Given the description of an element on the screen output the (x, y) to click on. 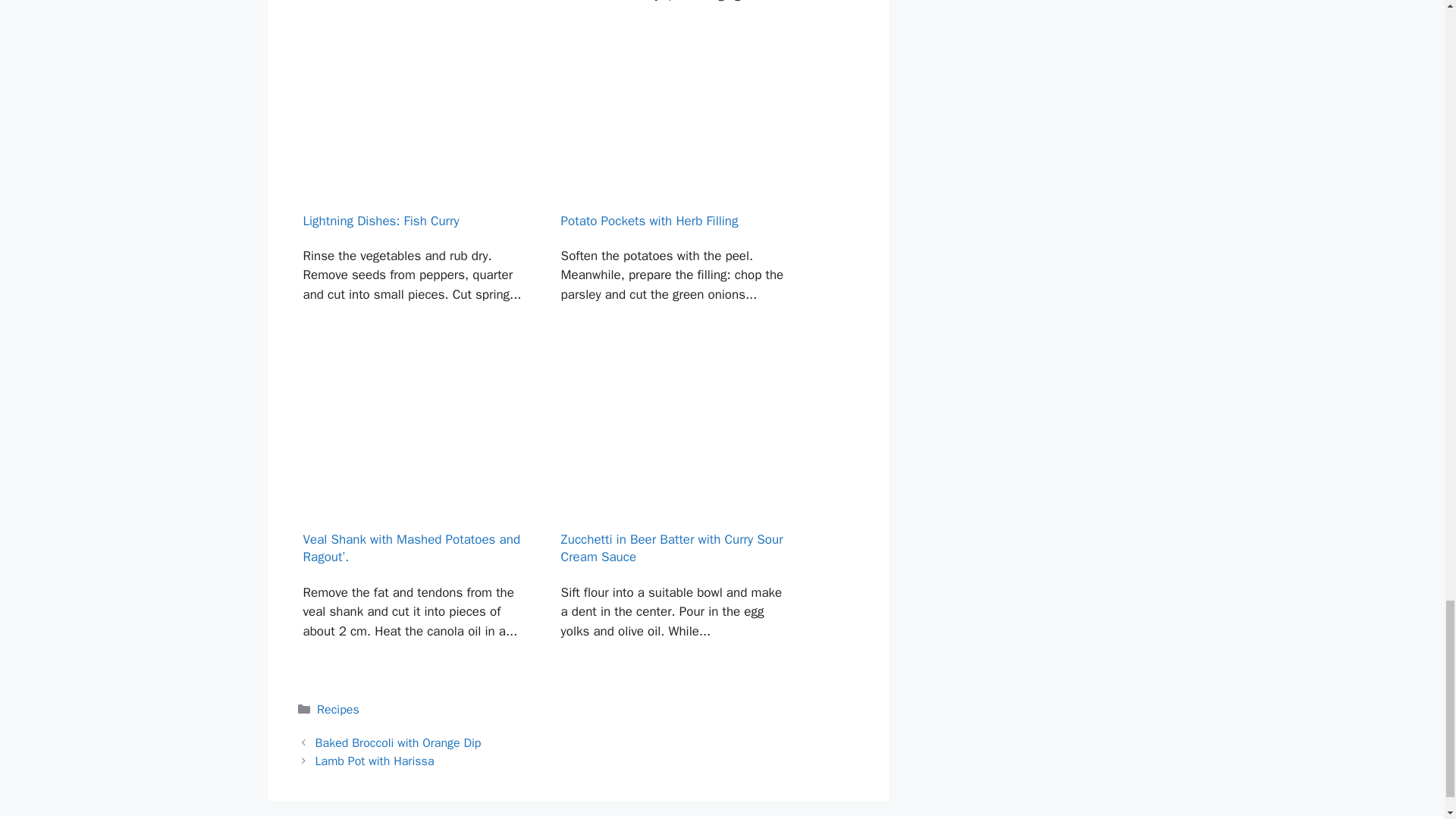
Fried Fillet of Pike-Perch with Rhubarb-Ginger Sauce (673, 18)
Baked Broccoli with Orange Dip (398, 743)
Recipes (338, 709)
Taco Shells (414, 18)
Lamb Pot with Harissa (374, 761)
